Given the description of an element on the screen output the (x, y) to click on. 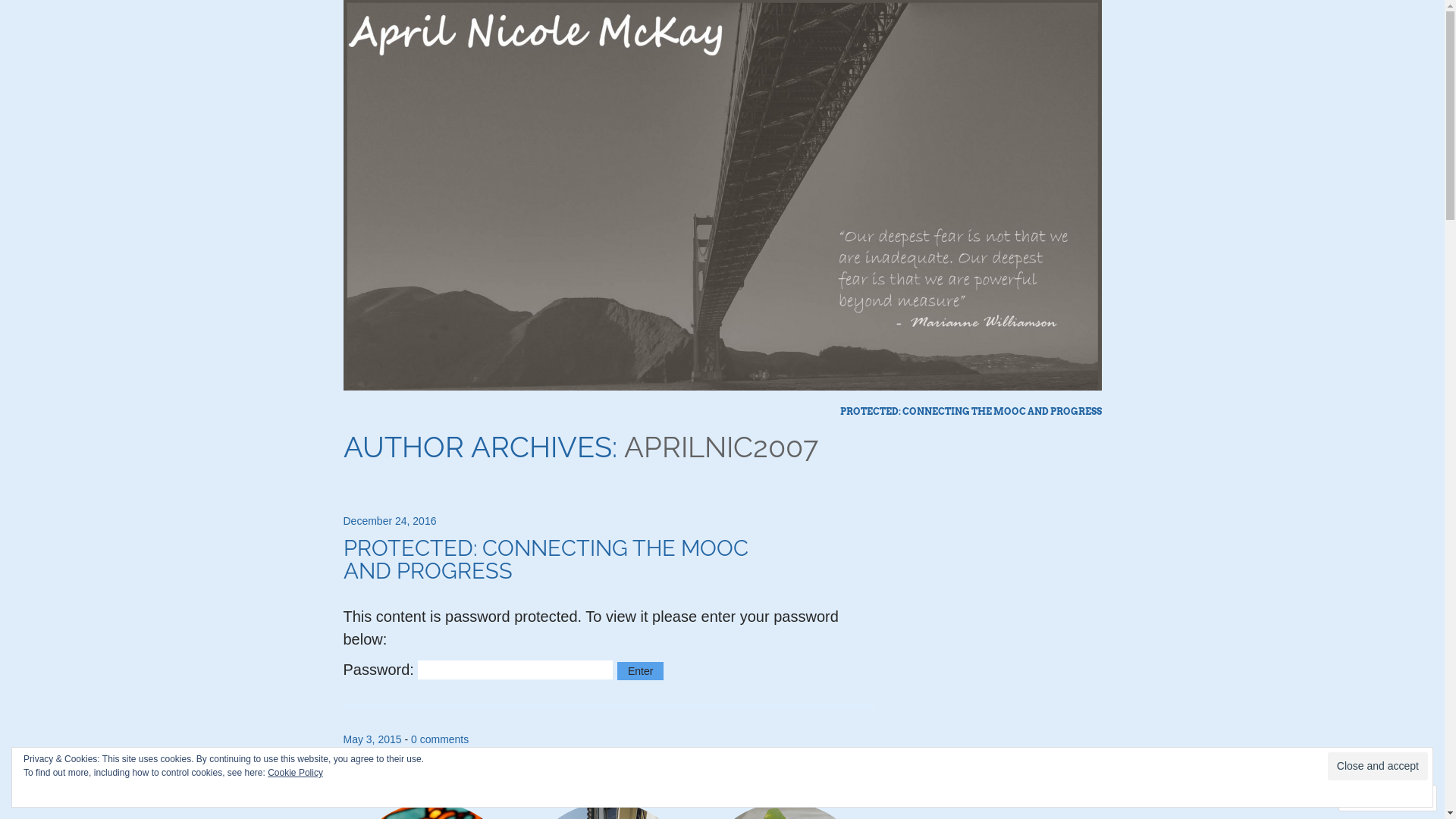
PROTECTED: CONNECTING THE MOOC AND PROGRESS Element type: text (970, 411)
Things Could Be Better Element type: hover (721, 384)
PROTECTED: CONNECTING THE MOOC AND PROGRESS Element type: text (544, 559)
May 3, 2015 Element type: text (371, 739)
Close and accept Element type: text (1377, 766)
PHOTOGRAPHY BY APRIL Element type: text (473, 766)
APRILNIC2007 Element type: text (720, 446)
Follow Element type: text (1372, 797)
Enter Element type: text (640, 671)
0 comments Element type: text (439, 739)
SKIP TO CONTENT Element type: text (863, 411)
Cookie Policy Element type: text (295, 772)
December 24, 2016 Element type: text (389, 520)
